Given the description of an element on the screen output the (x, y) to click on. 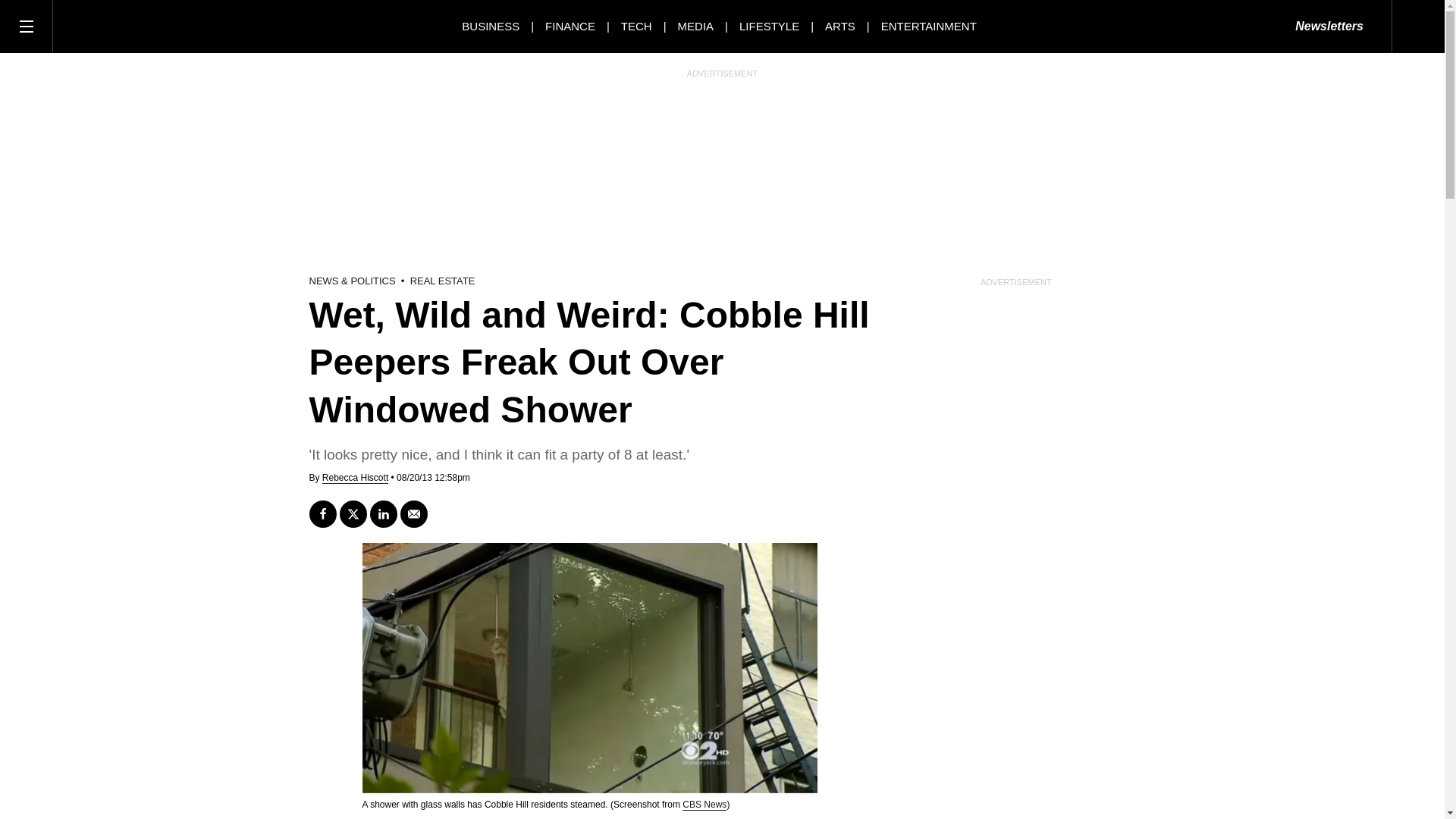
MEDIA (696, 25)
Newsletters (1329, 26)
Tweet (352, 513)
BUSINESS (490, 25)
Observer (121, 26)
Send email (414, 513)
Share on Facebook (322, 513)
FINANCE (569, 25)
TECH (636, 25)
ARTS (840, 25)
